Given the description of an element on the screen output the (x, y) to click on. 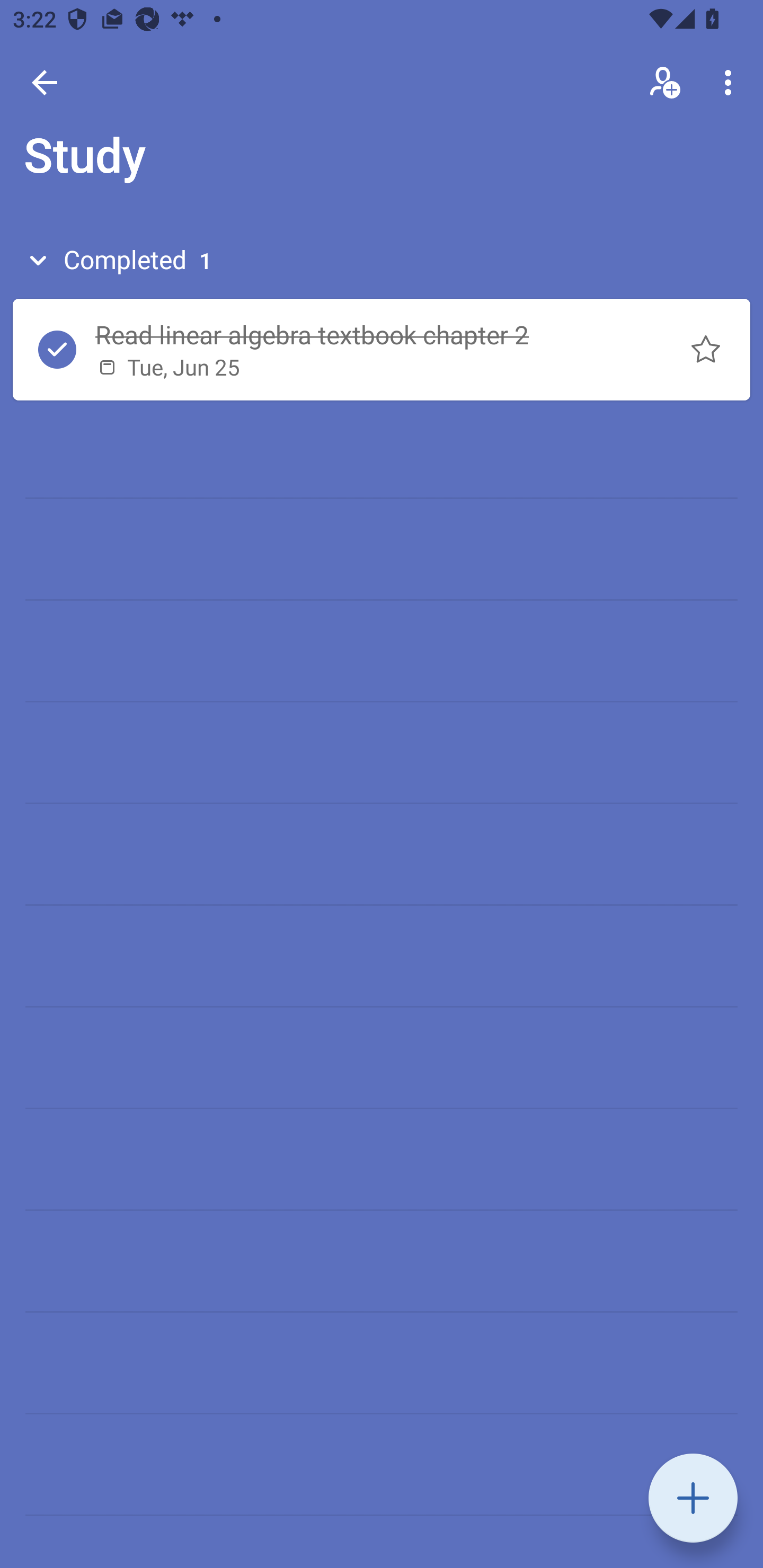
Add a task (692, 1497)
